Given the description of an element on the screen output the (x, y) to click on. 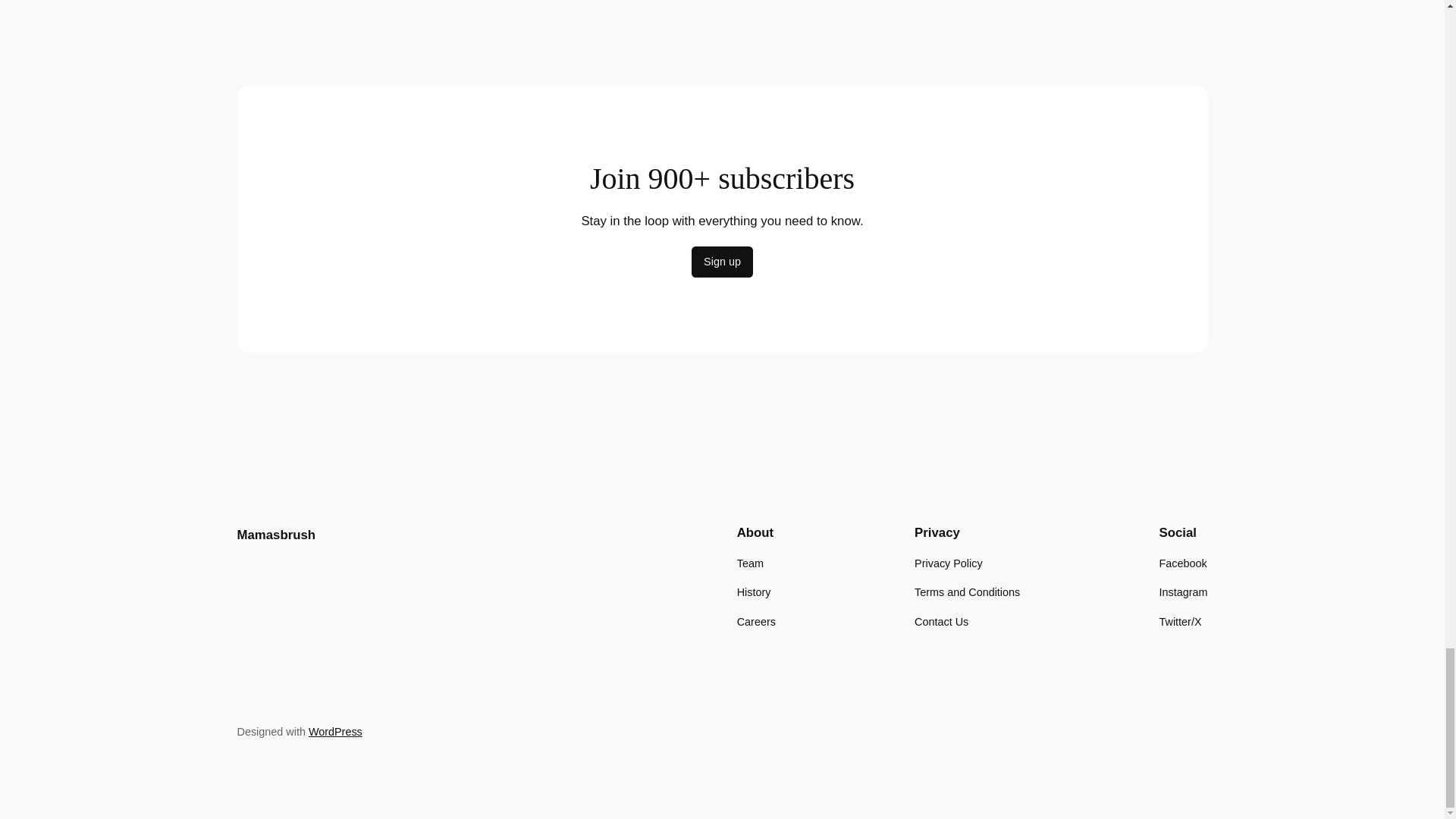
Terms and Conditions (967, 591)
Careers (756, 620)
WordPress (335, 731)
History (753, 591)
Team (749, 563)
Contact Us (941, 620)
Mamasbrush (275, 534)
Facebook (1182, 563)
Sign up (721, 262)
Instagram (1182, 591)
Privacy Policy (948, 563)
